Given the description of an element on the screen output the (x, y) to click on. 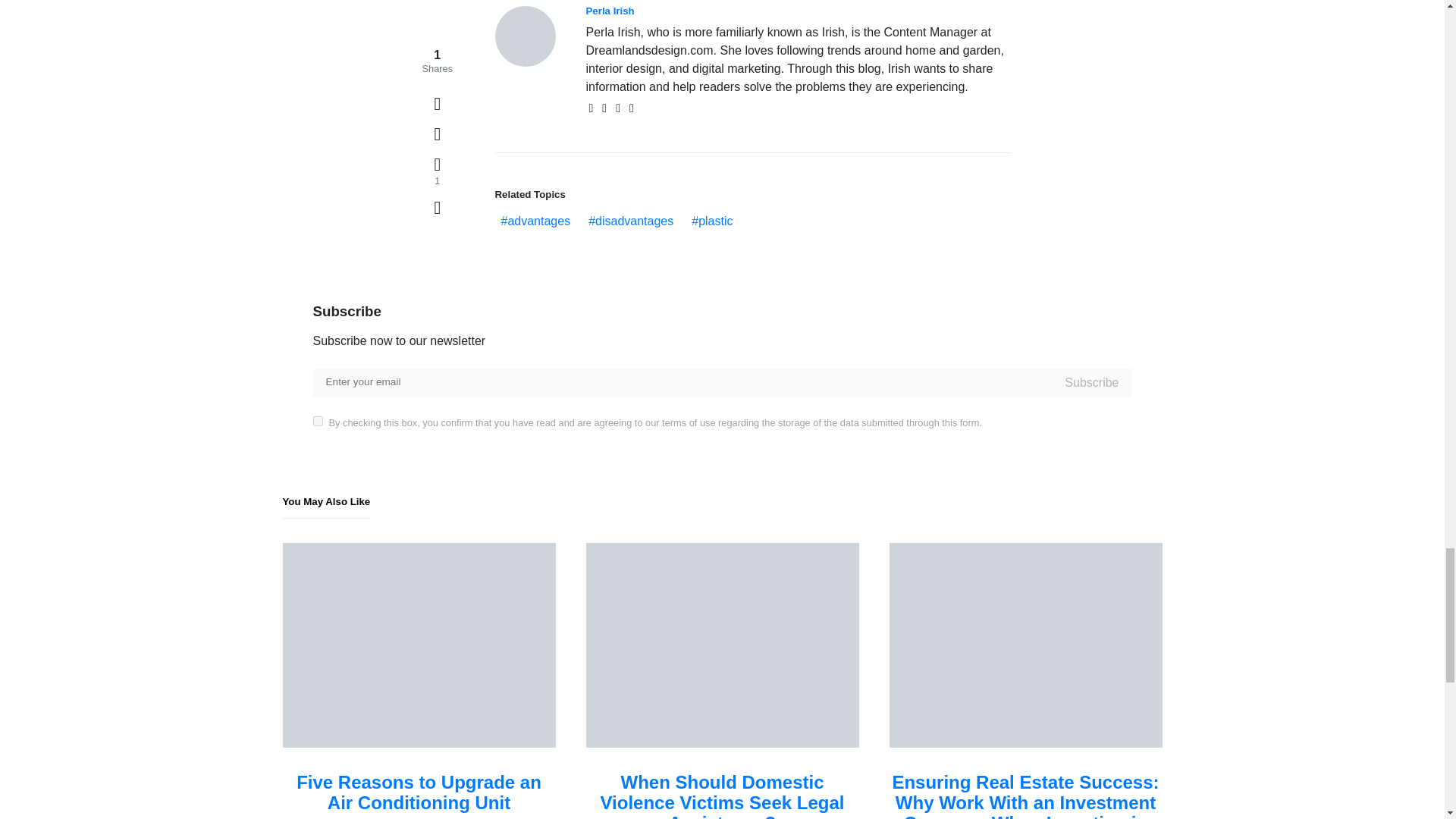
on (317, 420)
